Given the description of an element on the screen output the (x, y) to click on. 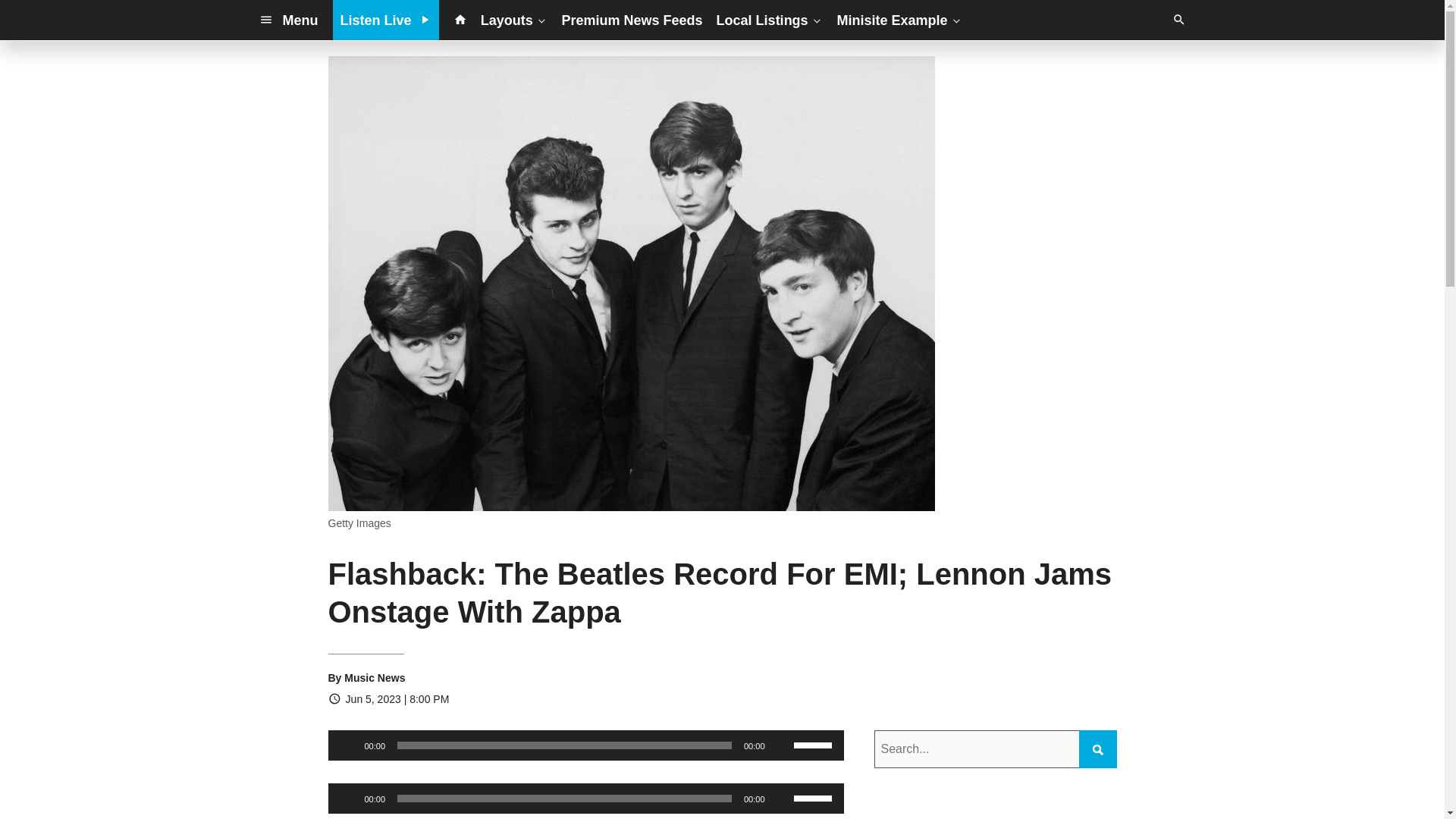
Mute (781, 797)
Premium News Feeds (632, 19)
Mute (781, 744)
Local Listings (769, 19)
Layouts (514, 19)
Play (347, 797)
Minisite Example (899, 19)
Listen Live (386, 20)
Play (347, 744)
Menu (287, 19)
